Given the description of an element on the screen output the (x, y) to click on. 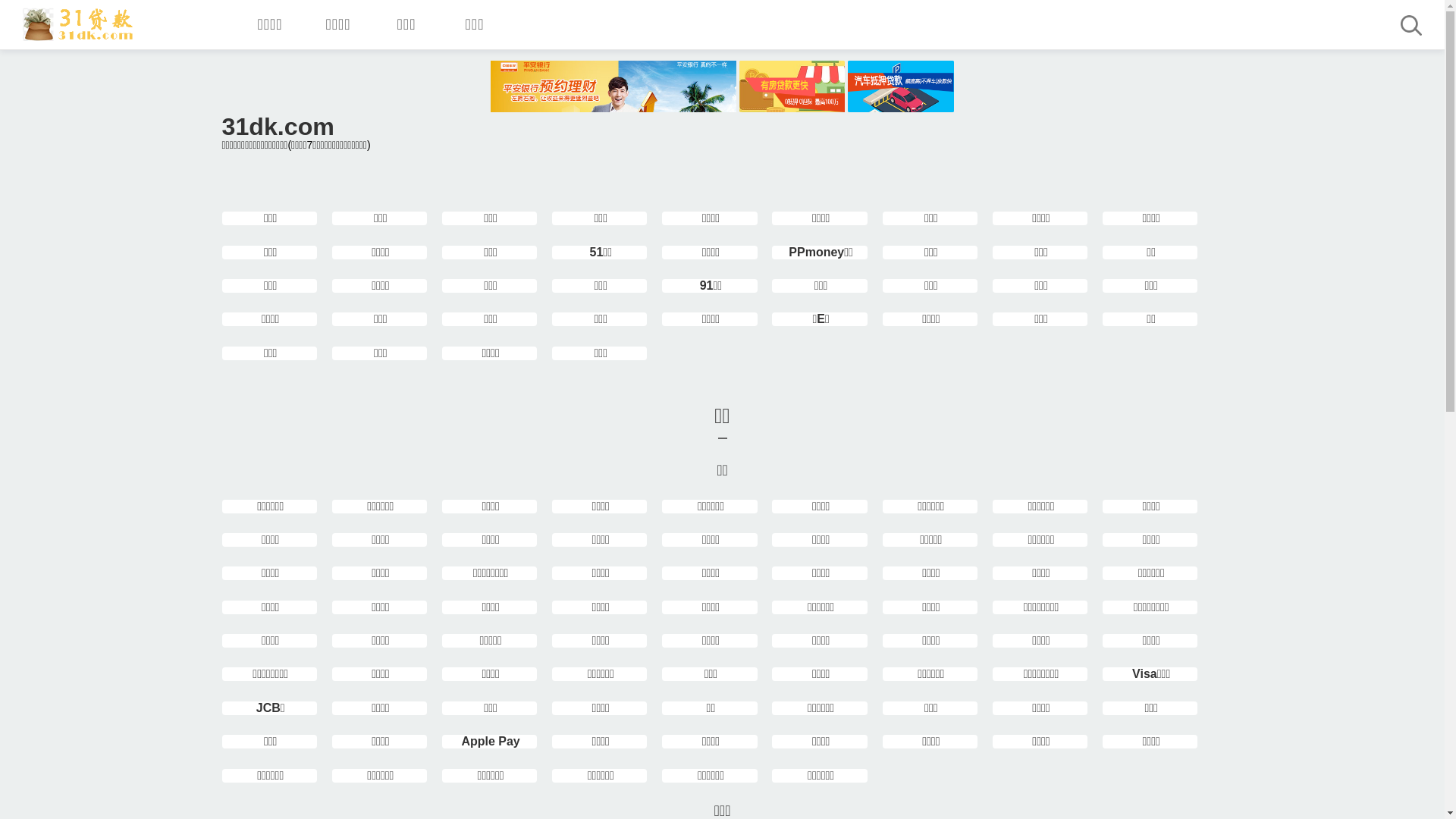
Apple Pay Element type: text (490, 740)
31dk.com Element type: hover (78, 23)
